Given the description of an element on the screen output the (x, y) to click on. 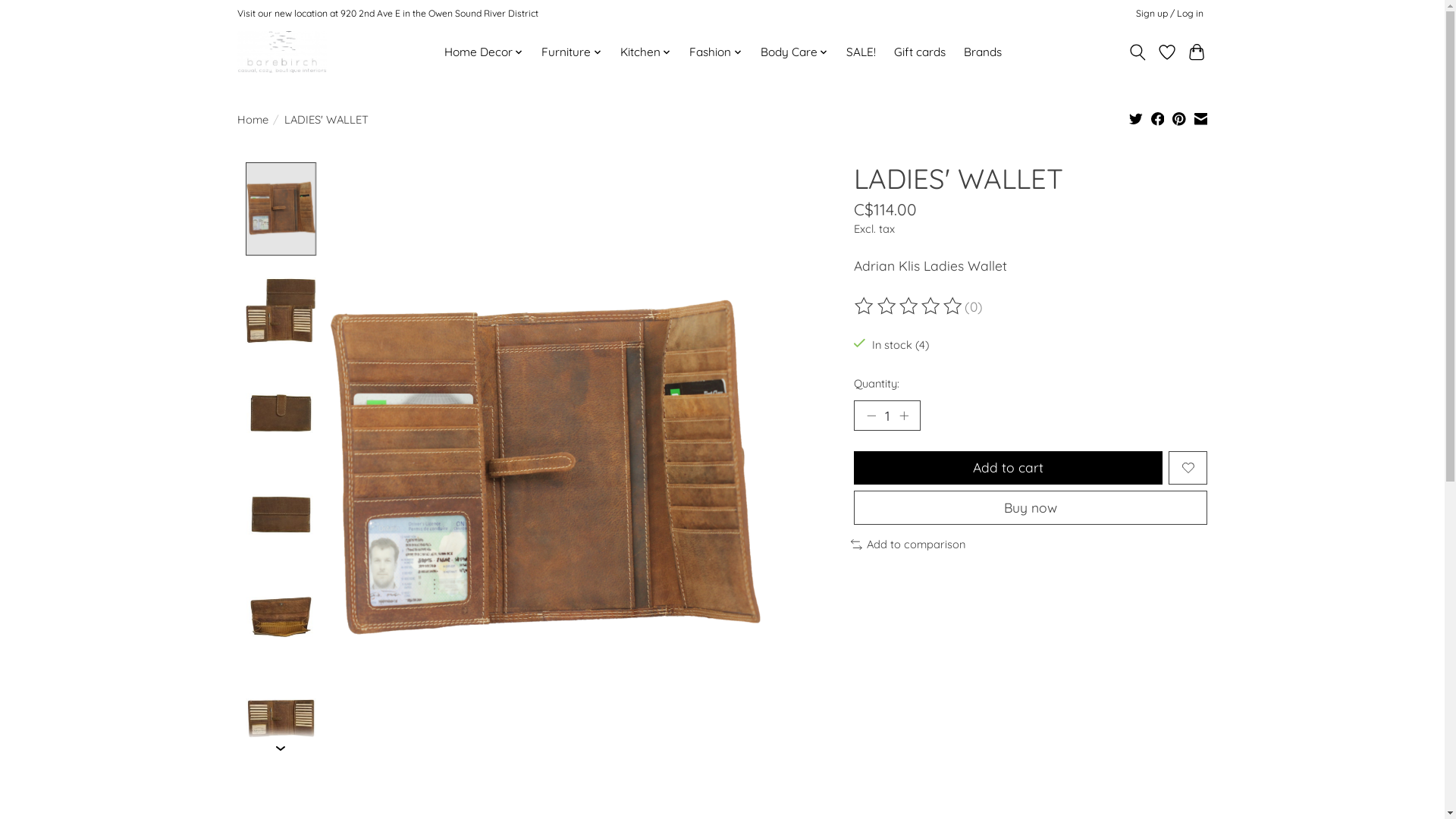
Brands Element type: text (982, 51)
Sign up / Log in Element type: text (1169, 12)
Body Care Element type: text (793, 51)
Home Decor Element type: text (484, 51)
Home Element type: text (251, 119)
SALE! Element type: text (860, 51)
Share on Facebook Element type: text (1157, 120)
Share on Twitter Element type: text (1135, 120)
Furniture Element type: text (571, 51)
Add to cart Element type: text (1007, 467)
Furniture, Home Decor, Fashion Accessories and Giftware Element type: hover (281, 51)
Add to comparison Element type: text (908, 543)
Kitchen Element type: text (646, 51)
Fashion Element type: text (715, 51)
Share on Pinterest Element type: text (1179, 120)
Buy now Element type: text (1030, 507)
Share by Email Element type: text (1201, 120)
Gift cards Element type: text (919, 51)
